Given the description of an element on the screen output the (x, y) to click on. 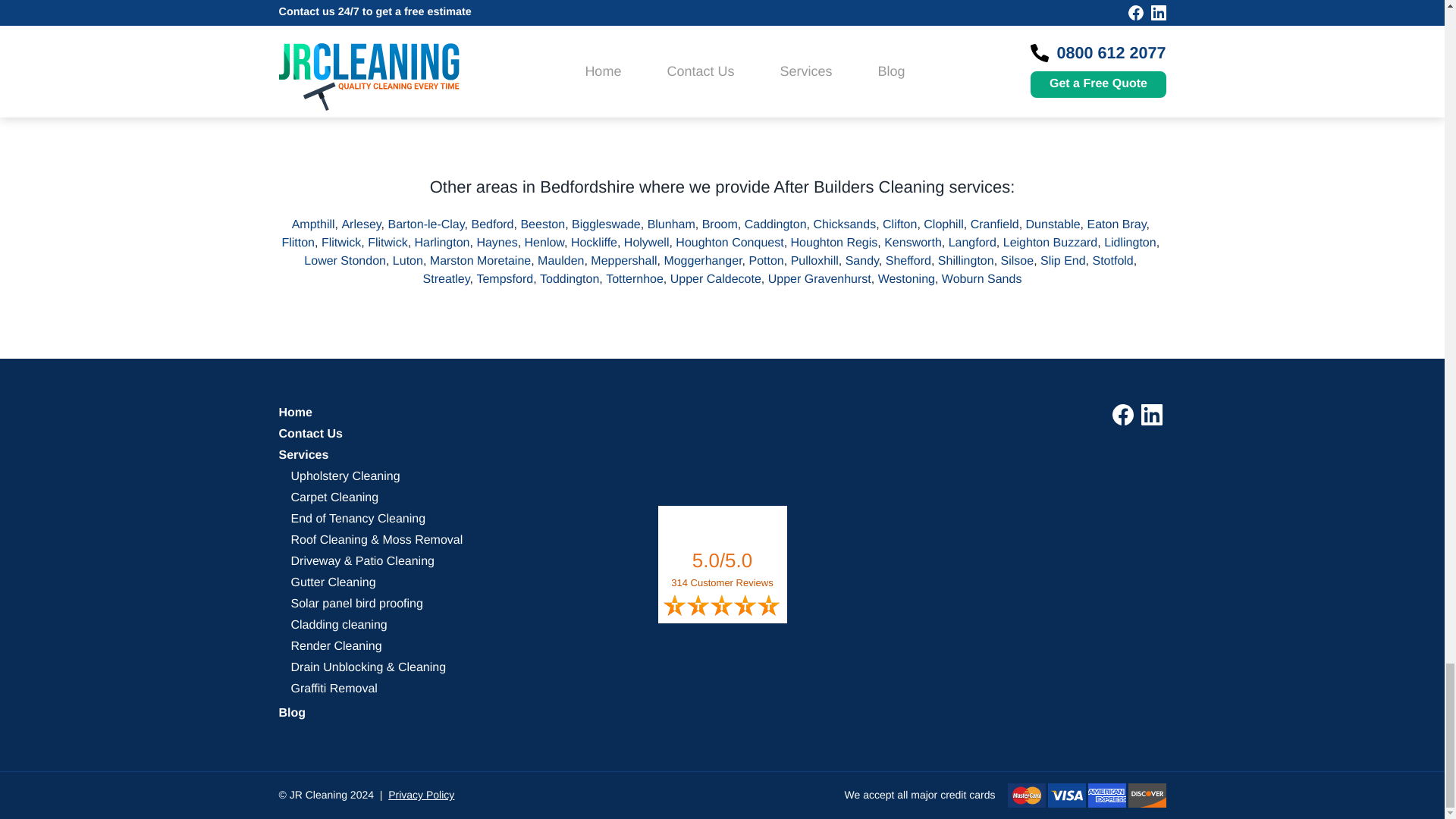
Bedford (494, 224)
Chicksands (847, 224)
Arlesey (363, 224)
Beeston (545, 224)
Broom (722, 224)
Clifton (902, 224)
Ampthill (317, 224)
Barton-le-Clay (429, 224)
Blunham (674, 224)
Clophill (946, 224)
Biggleswade (609, 224)
Dunstable (1056, 224)
Caddington (778, 224)
Cranfield (998, 224)
